Given the description of an element on the screen output the (x, y) to click on. 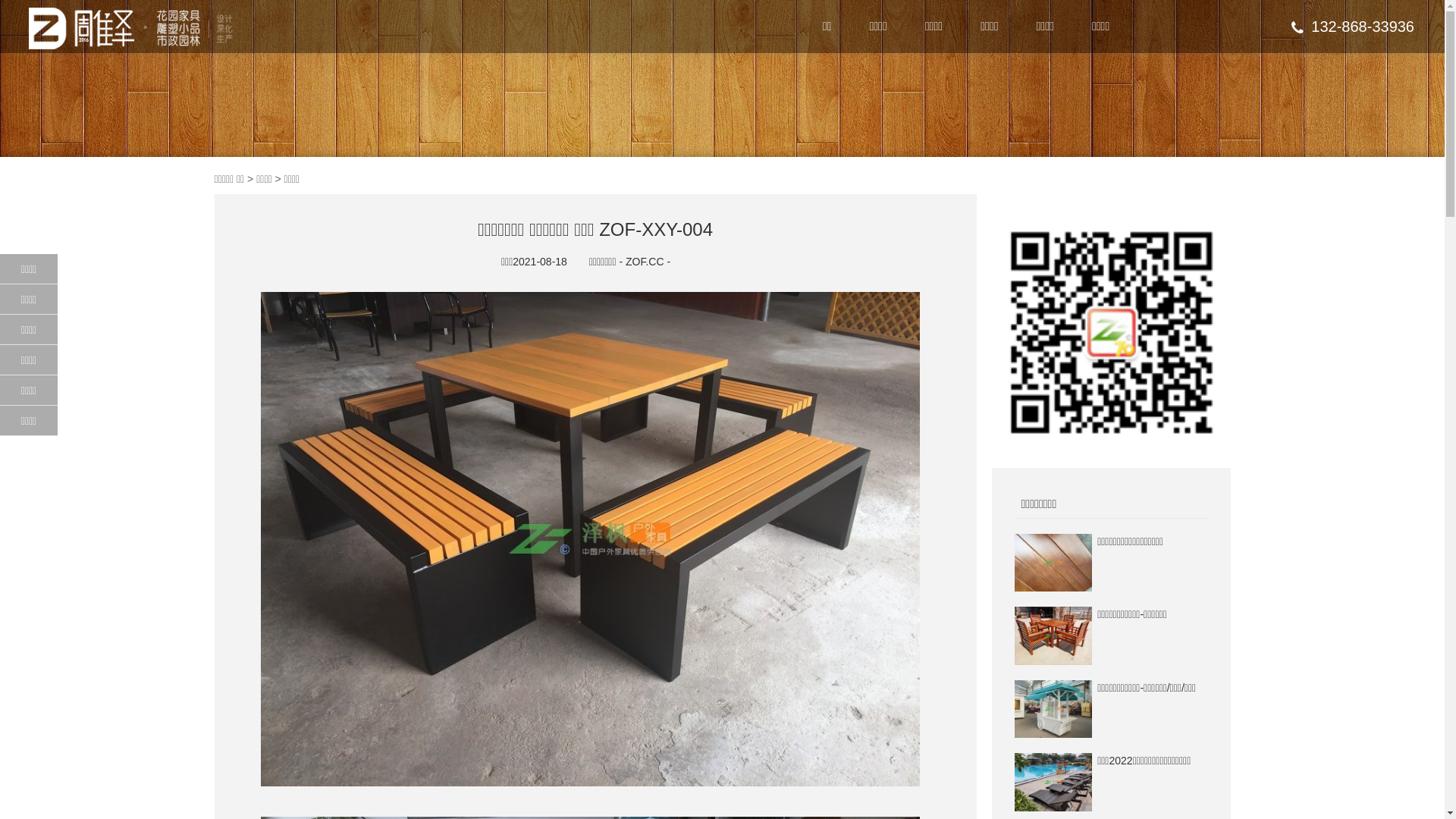
132-868-33936 Element type: text (1352, 26)
